Given the description of an element on the screen output the (x, y) to click on. 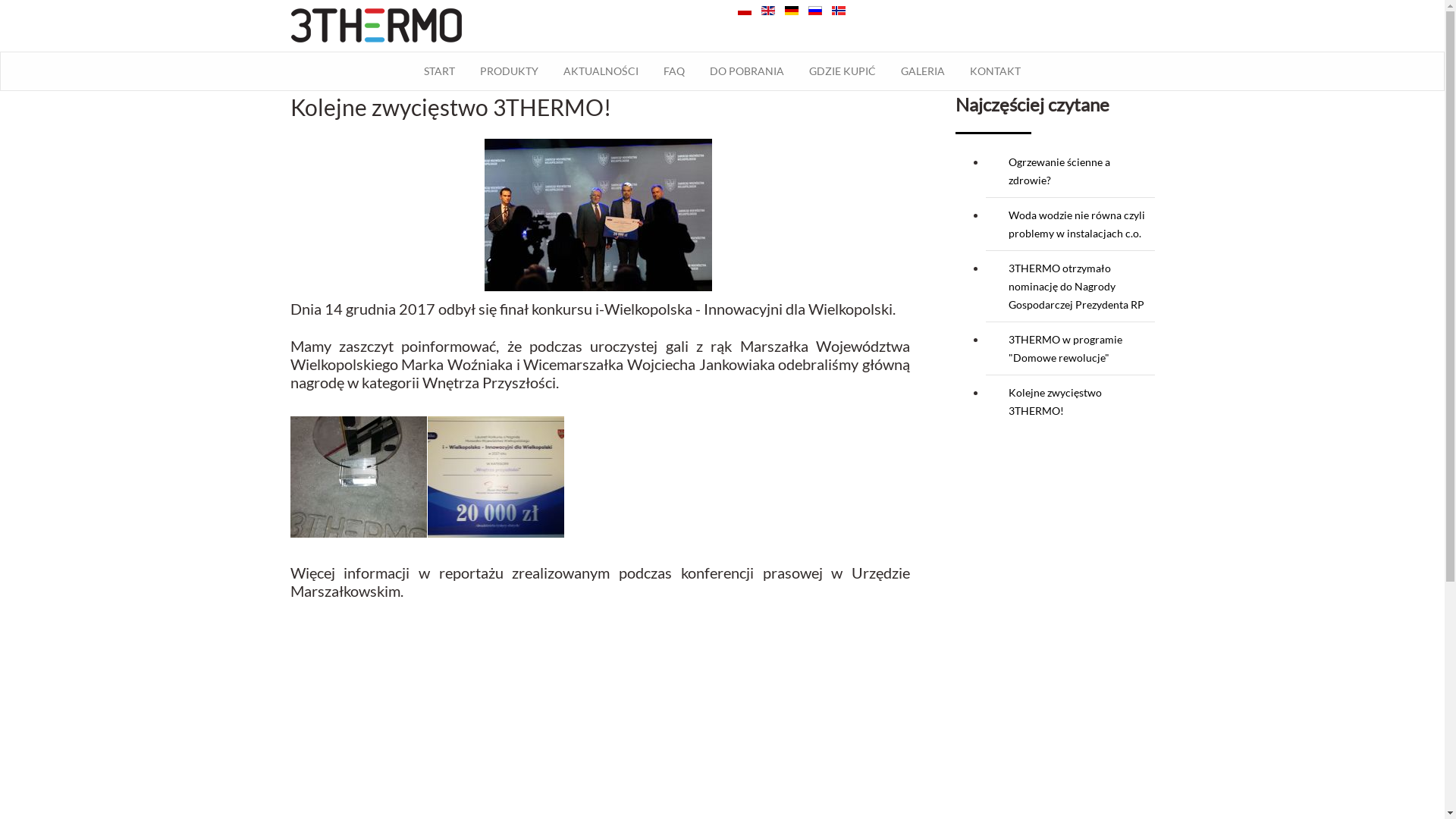
DO POBRANIA Element type: text (746, 71)
3THERMO w programie "Domowe rewolucje" Element type: text (1065, 348)
KONTAKT Element type: text (995, 71)
Deutsch Element type: hover (790, 10)
Grzejnik podtynkowy 3THERMO Element type: hover (375, 23)
You are viewing the image with filename iw2.jpg Element type: hover (357, 476)
FAQ Element type: text (674, 71)
English (UK) Element type: hover (768, 10)
GALERIA Element type: text (922, 71)
PRODUKTY Element type: text (508, 71)
You are viewing the image with filename iw3.jpg Element type: hover (495, 476)
Russian (Russia) Element type: hover (815, 10)
START Element type: text (439, 71)
Polski Element type: hover (743, 10)
